Given the description of an element on the screen output the (x, y) to click on. 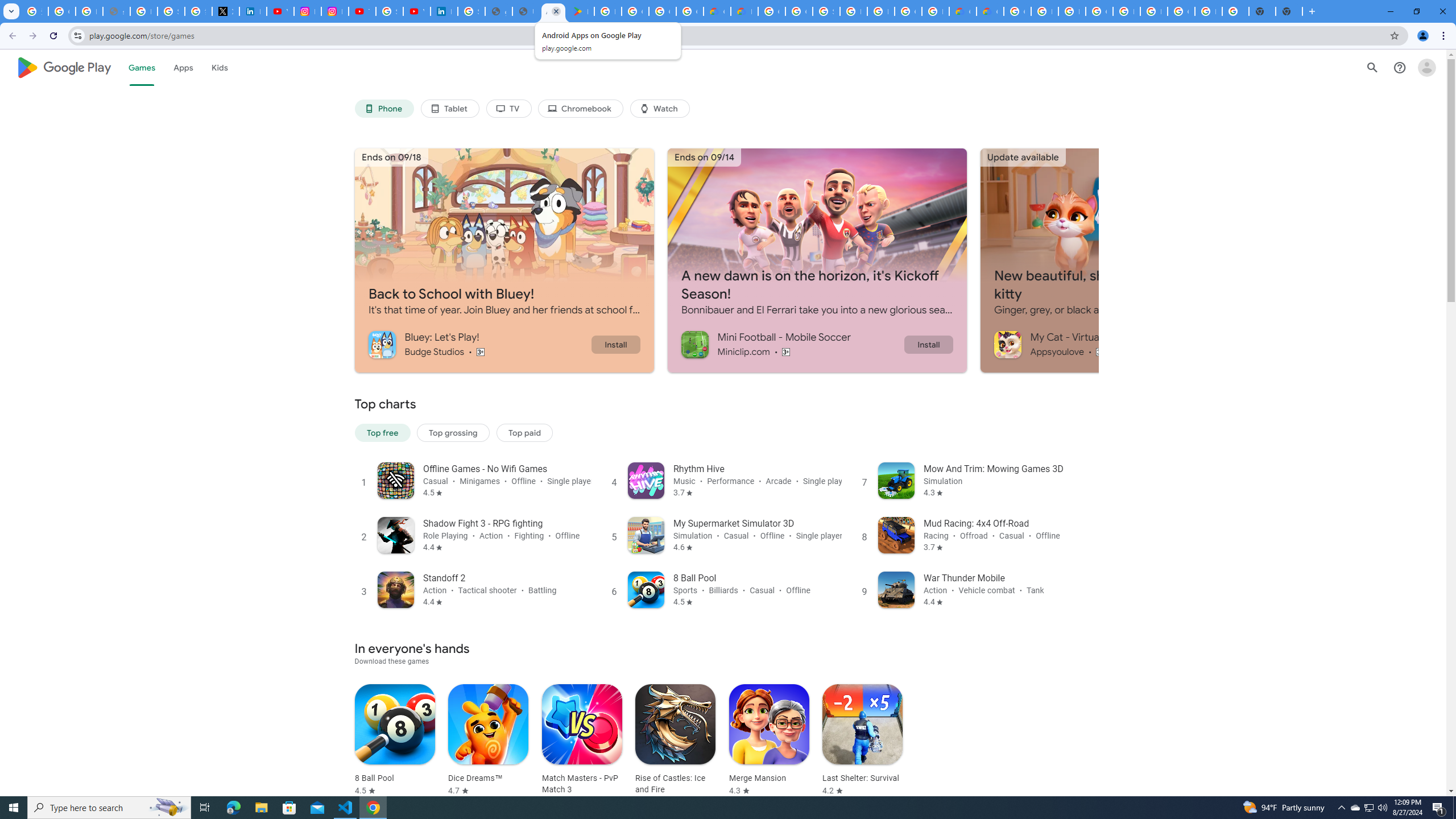
Google Cloud Platform (1099, 11)
Top paid (524, 432)
8 Ball Pool Rated 4.5 stars out of five stars (394, 739)
Google Cloud Platform (771, 11)
Chromebook (581, 108)
Kids (219, 67)
Tablet (449, 108)
YouTube Content Monetization Policies - How YouTube Works (280, 11)
